Given the description of an element on the screen output the (x, y) to click on. 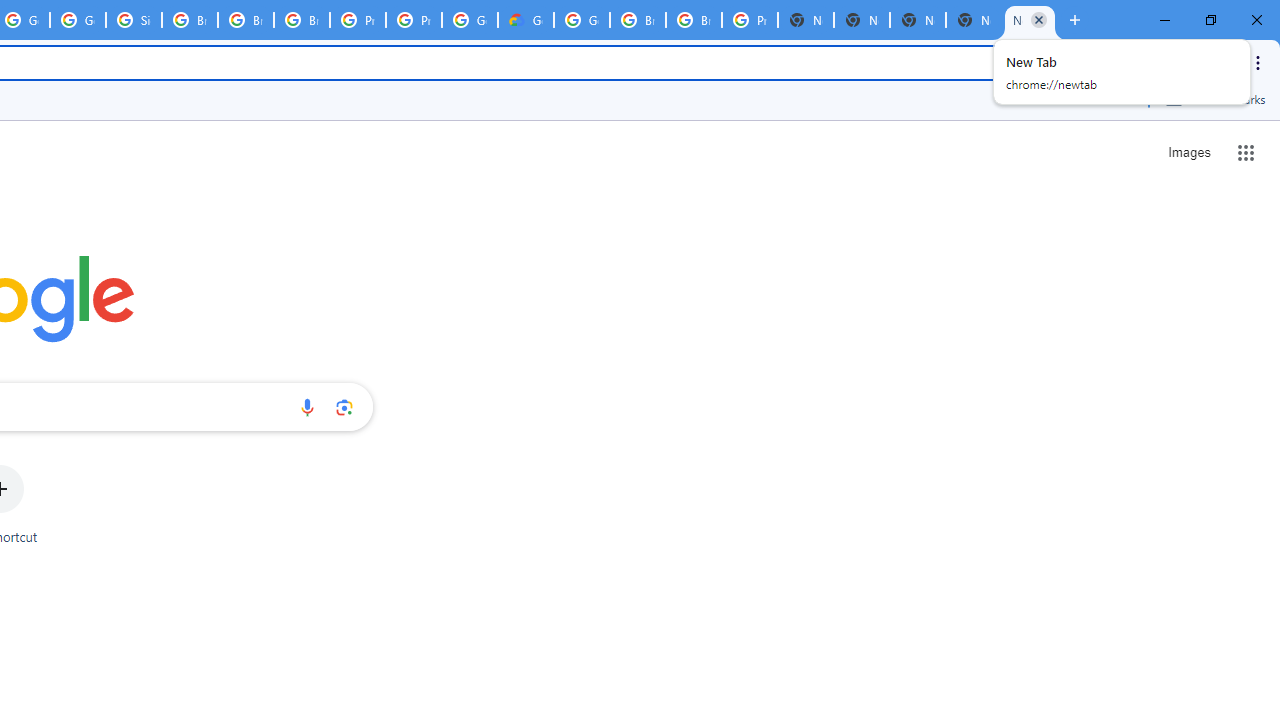
Browse Chrome as a guest - Computer - Google Chrome Help (637, 20)
All Bookmarks (1215, 99)
Browse Chrome as a guest - Computer - Google Chrome Help (245, 20)
Google Cloud Platform (582, 20)
New Tab (1030, 20)
Sign in - Google Accounts (134, 20)
Google Cloud Estimate Summary (525, 20)
